Given the description of an element on the screen output the (x, y) to click on. 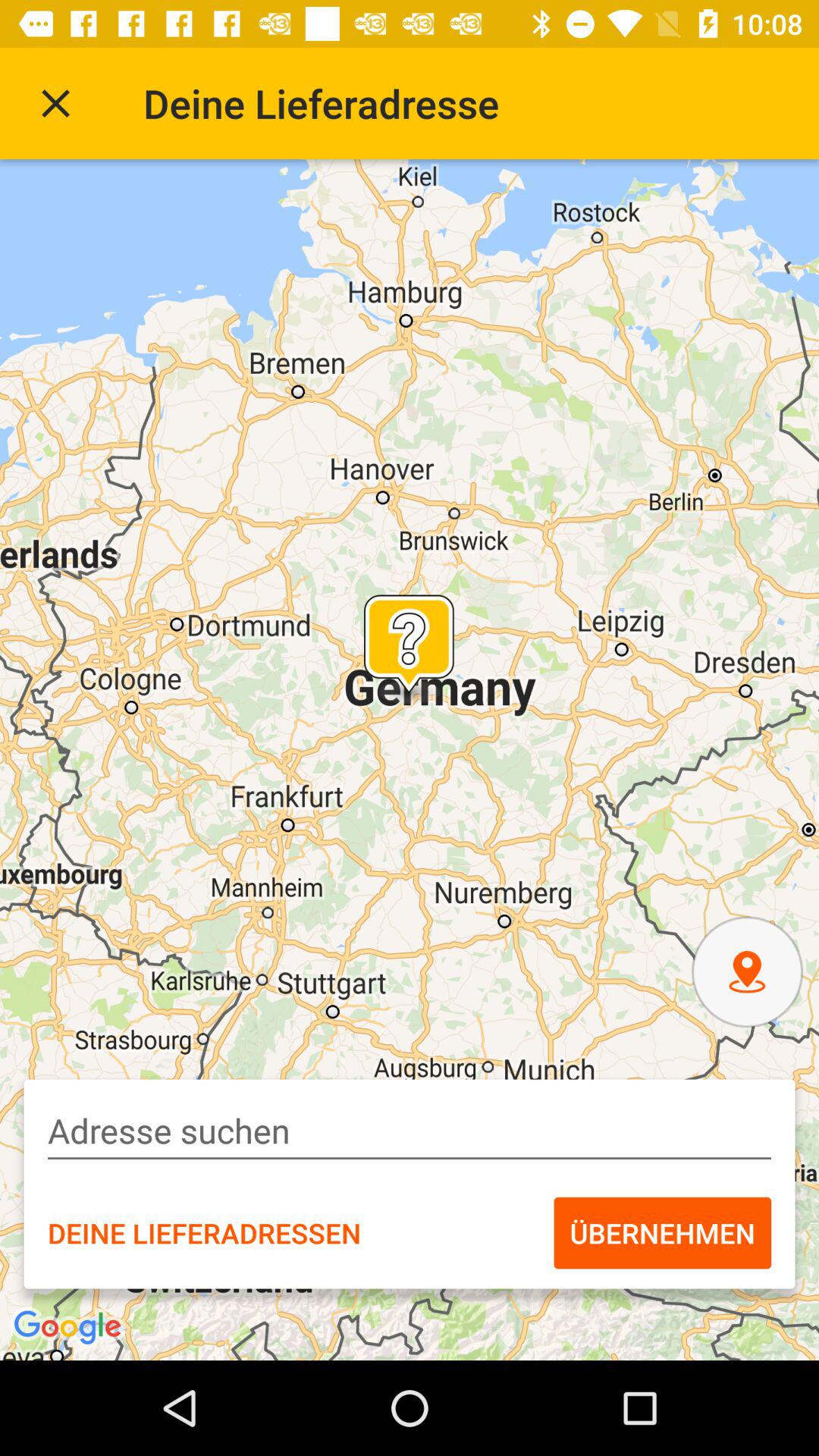
scroll until the deine lieferadressen item (204, 1232)
